Given the description of an element on the screen output the (x, y) to click on. 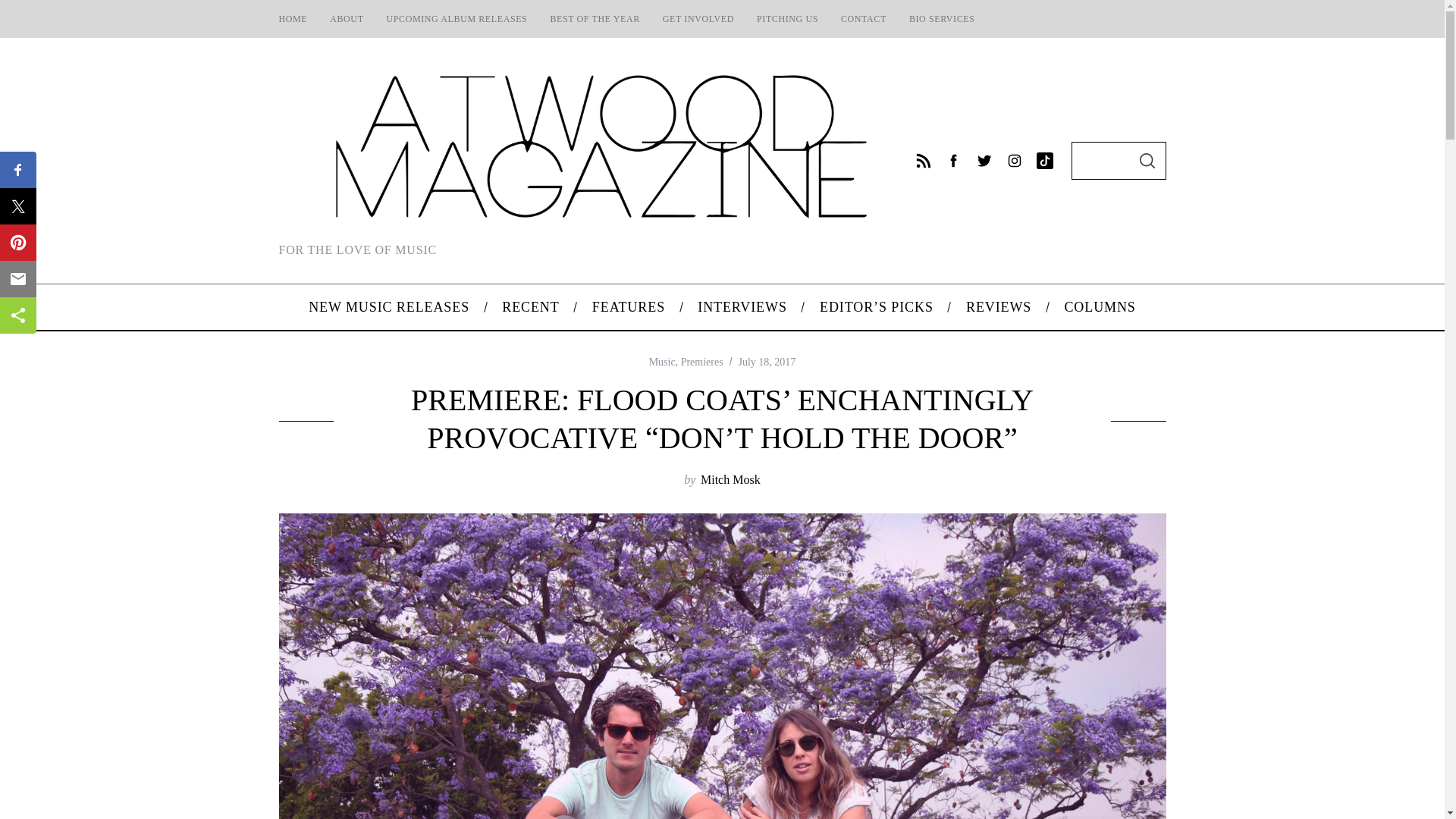
INTERVIEWS (742, 307)
Mitch Mosk (730, 479)
PITCHING US (787, 18)
REVIEWS (997, 307)
Premieres (702, 361)
ABOUT (346, 18)
GET INVOLVED (697, 18)
Celebrating the best music of 2023! (594, 18)
Home (292, 18)
HOME (292, 18)
